Given the description of an element on the screen output the (x, y) to click on. 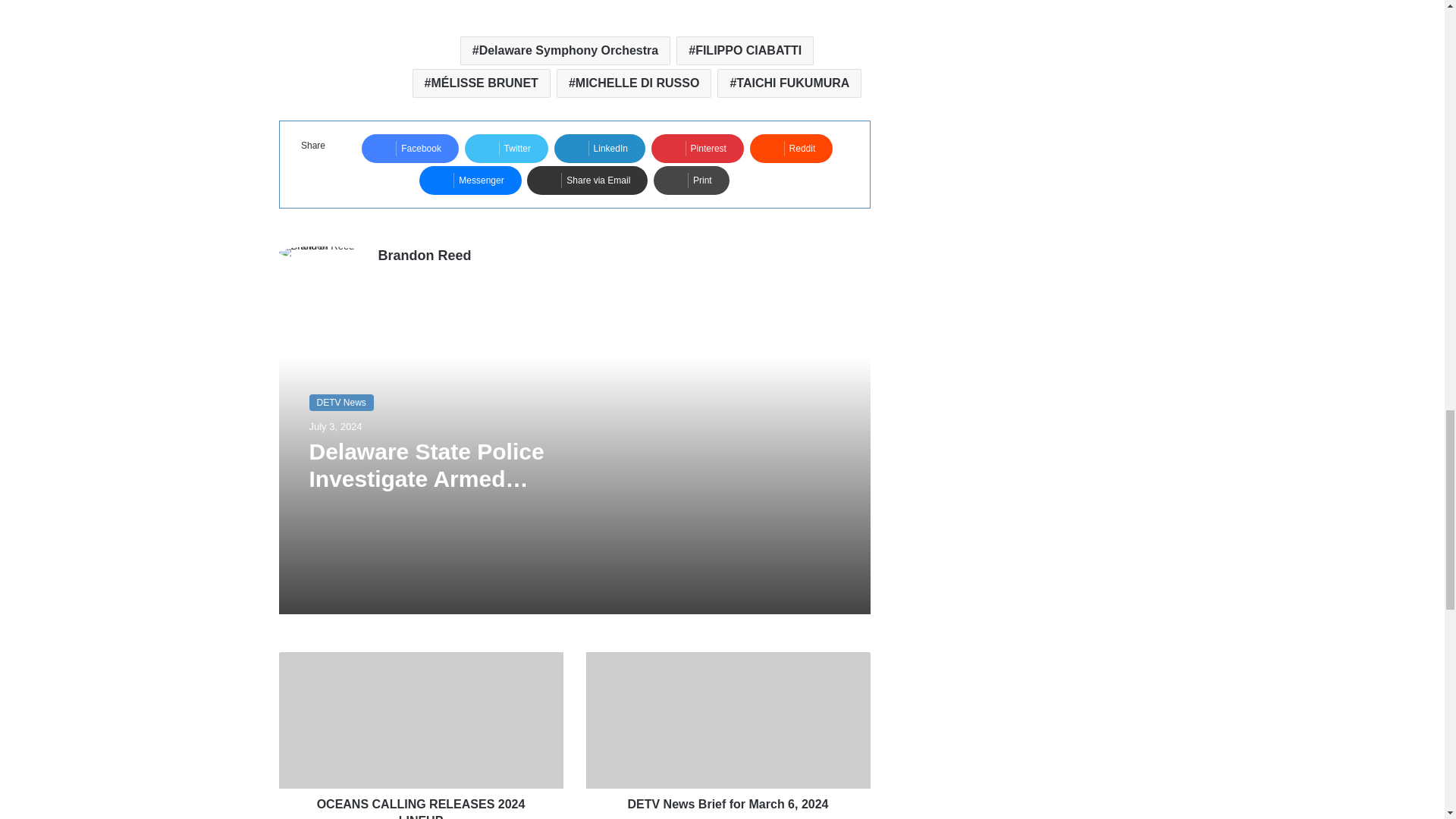
LinkedIn (599, 148)
Twitter (506, 148)
Pinterest (697, 148)
Facebook (409, 148)
